Given the description of an element on the screen output the (x, y) to click on. 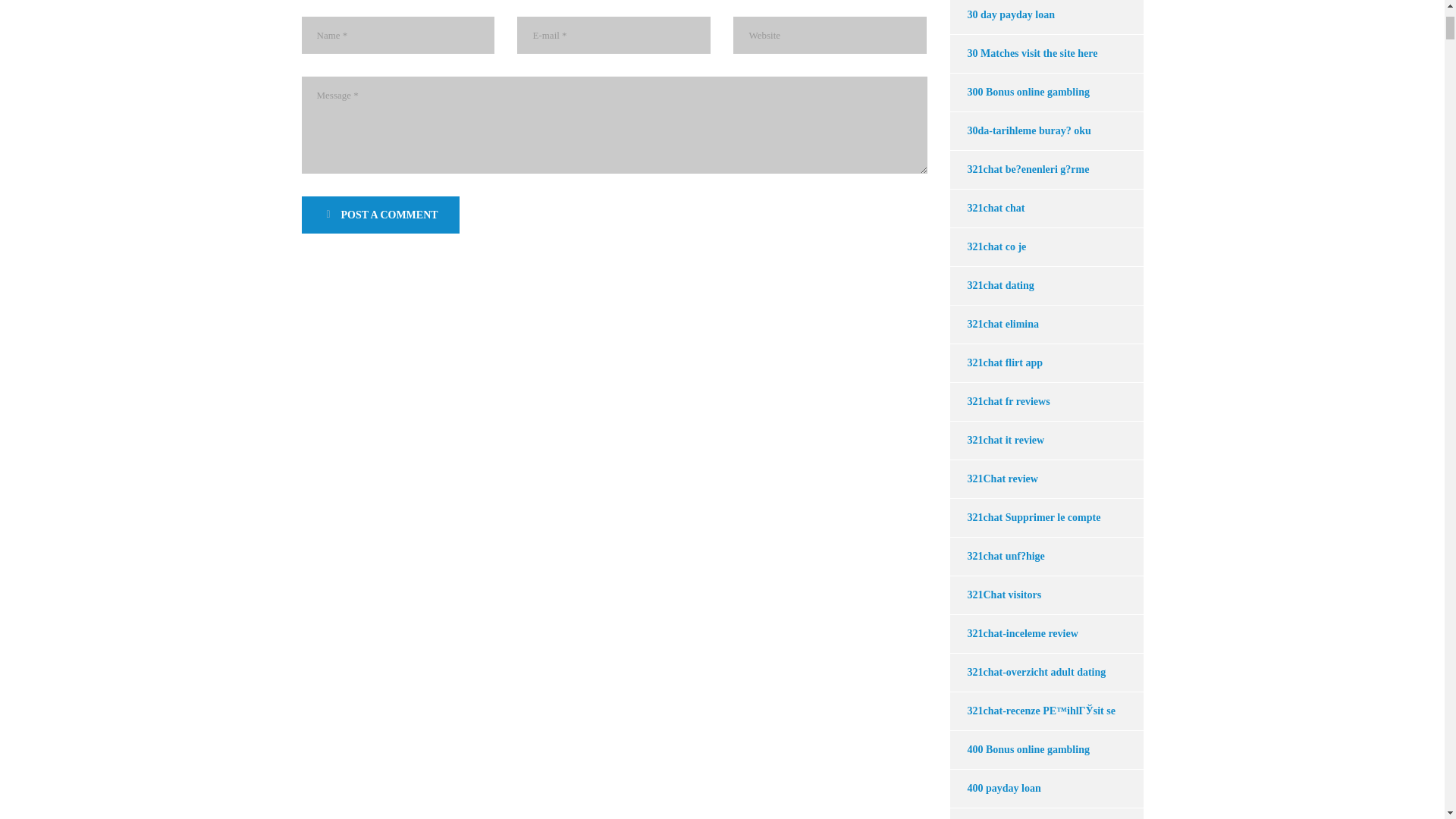
POST A COMMENT (380, 214)
